Given the description of an element on the screen output the (x, y) to click on. 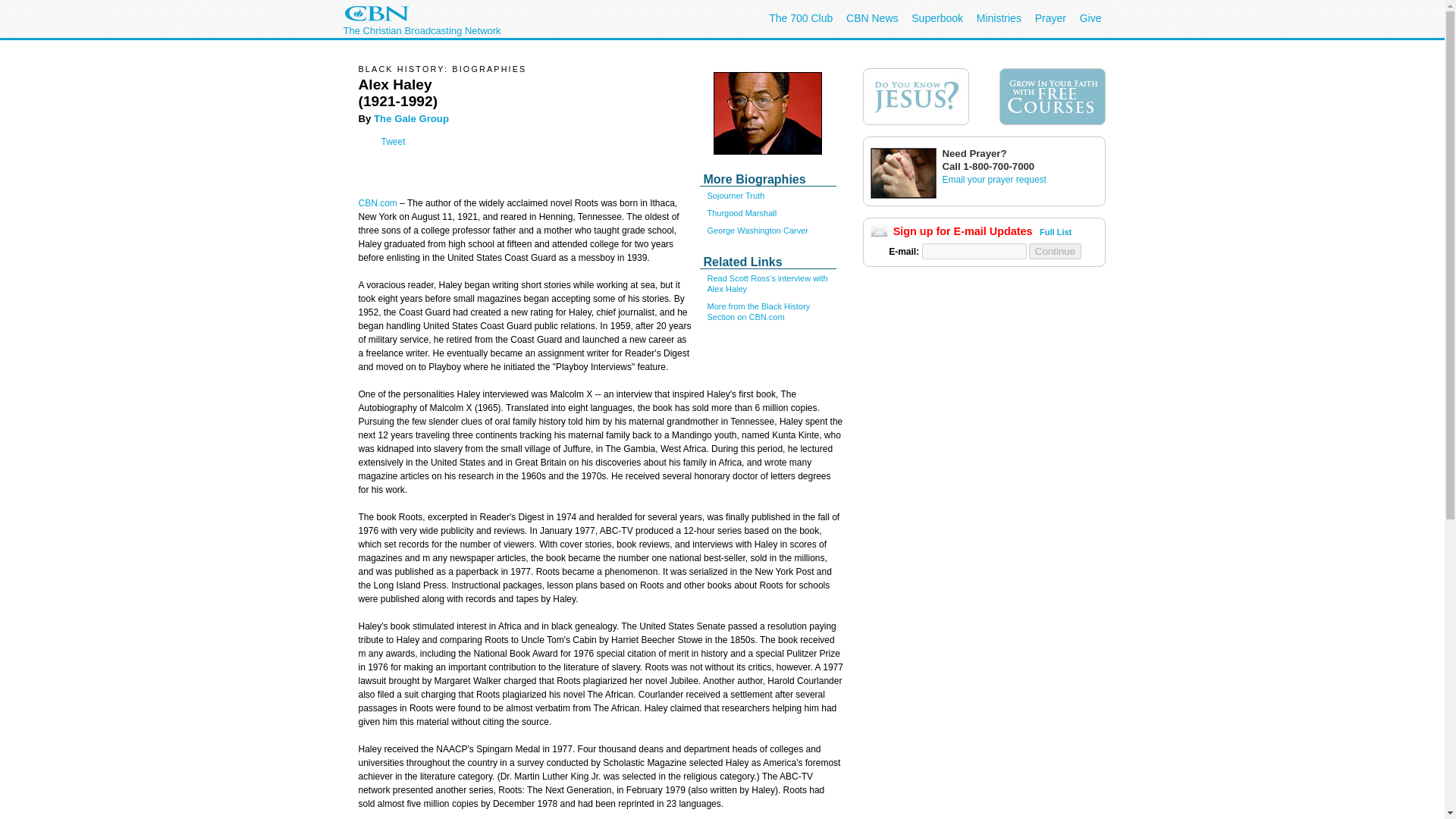
CBN News (871, 18)
Sojourner Truth (735, 194)
CBN.com (377, 203)
More from the Black History Section on CBN.com (757, 311)
Ministries (999, 18)
Thurgood Marshall (741, 212)
Superbook (936, 18)
The 700 Club (800, 18)
Read Scott Ross's interview with Alex Haley (766, 283)
Give (1091, 18)
Continue (1055, 251)
Tweet (392, 141)
George Washington Carver (757, 230)
Prayer (1050, 18)
The Gale Group (409, 118)
